Given the description of an element on the screen output the (x, y) to click on. 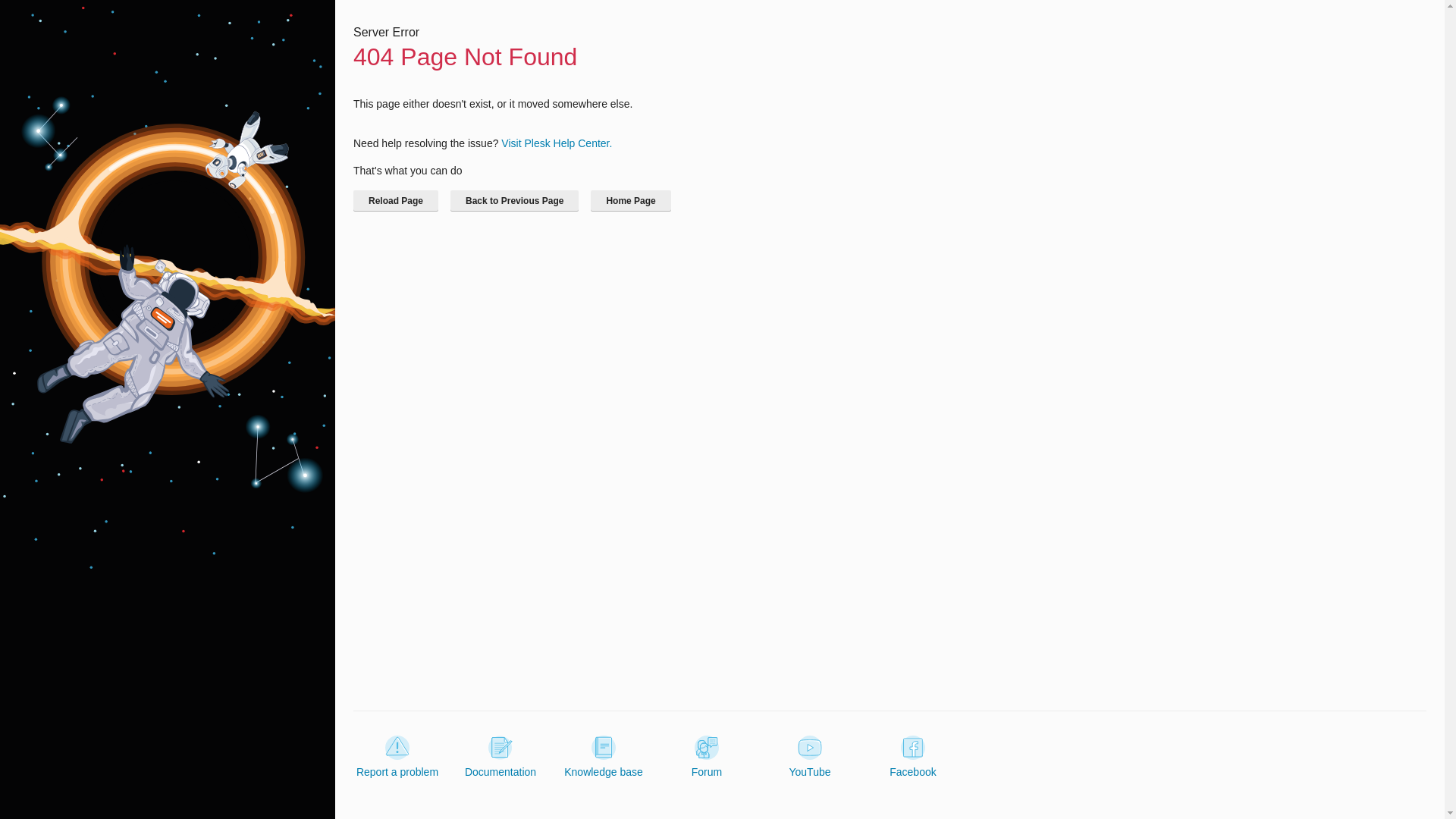
YouTube (809, 757)
Knowledge base (603, 757)
Facebook (912, 757)
Visit Plesk Help Center. (555, 143)
Back to Previous Page (513, 200)
Reload Page (395, 200)
Forum (706, 757)
Documentation (500, 757)
Home Page (630, 200)
Report a problem (397, 757)
